Given the description of an element on the screen output the (x, y) to click on. 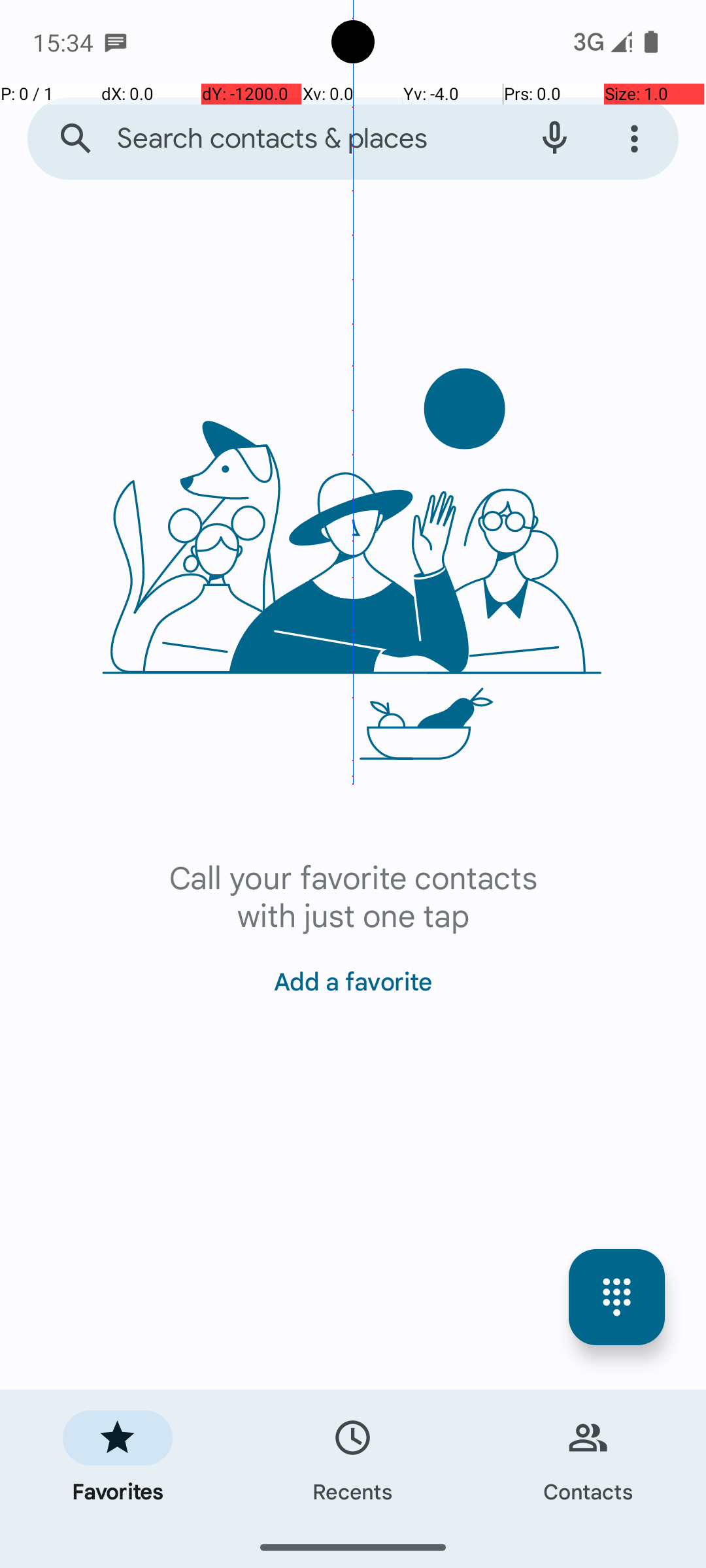
Call your favorite contacts with just one tap Element type: android.widget.TextView (352, 895)
Add a favorite Element type: android.widget.TextView (353, 973)
key pad Element type: android.widget.ImageButton (616, 1297)
Recents Element type: android.widget.FrameLayout (352, 1457)
Start voice search Element type: android.widget.Button (554, 138)
